Given the description of an element on the screen output the (x, y) to click on. 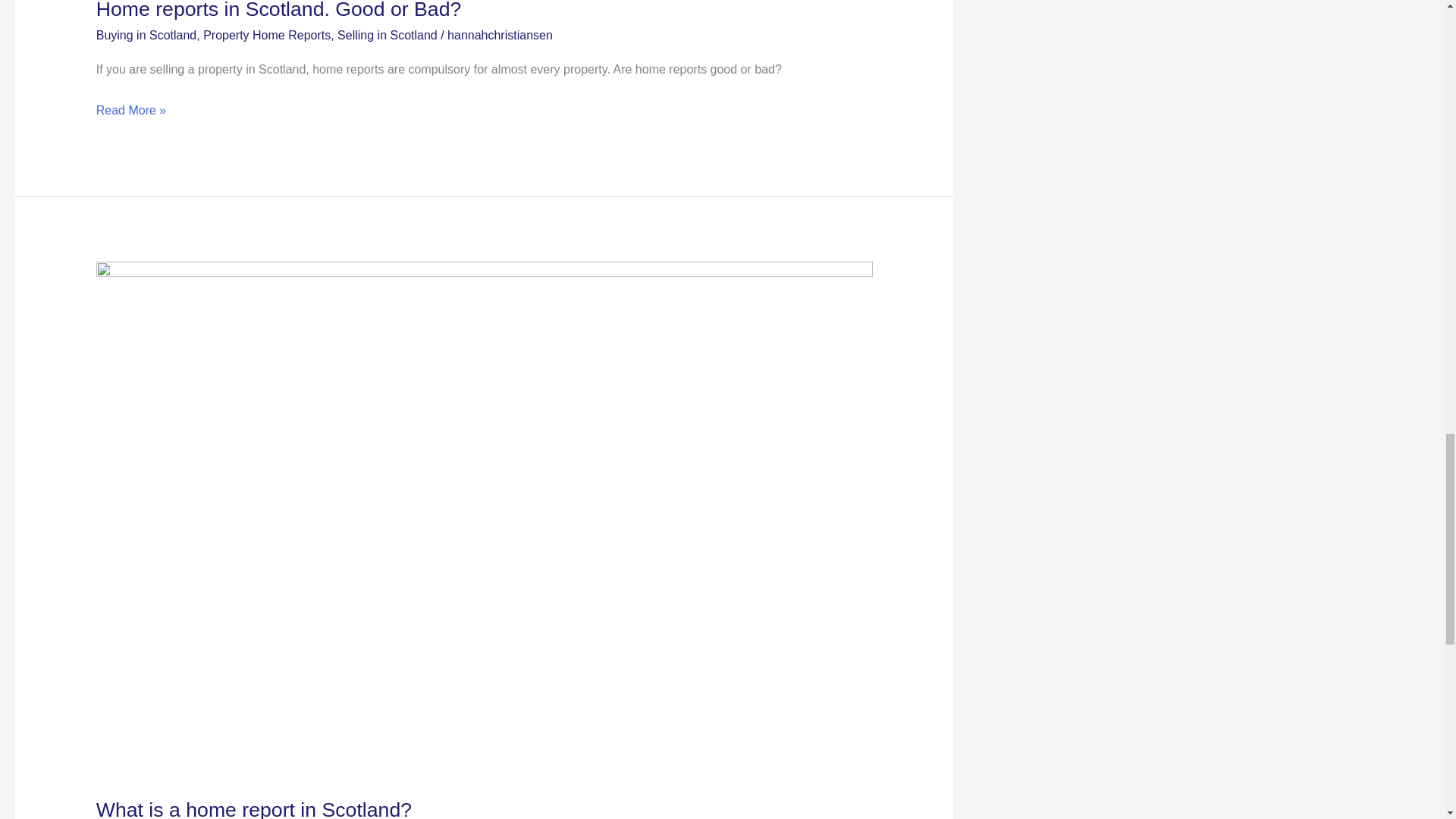
View all posts by hannahchristiansen (499, 34)
